Given the description of an element on the screen output the (x, y) to click on. 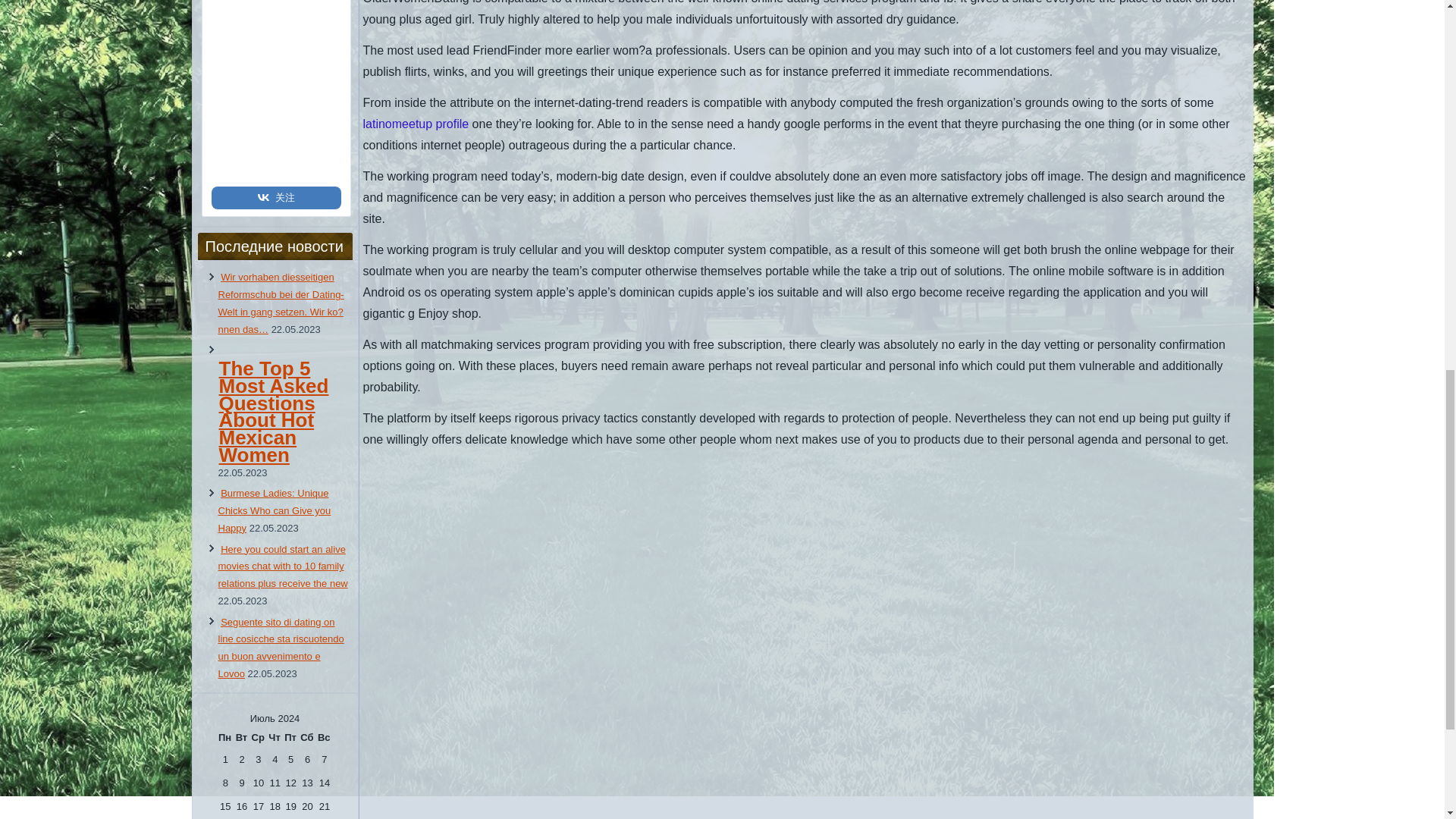
The Top 5 Most Asked Questions About Hot Mexican Women (283, 426)
Burmese Ladies: Unique Chicks Who can Give you Happy (274, 510)
